Given the description of an element on the screen output the (x, y) to click on. 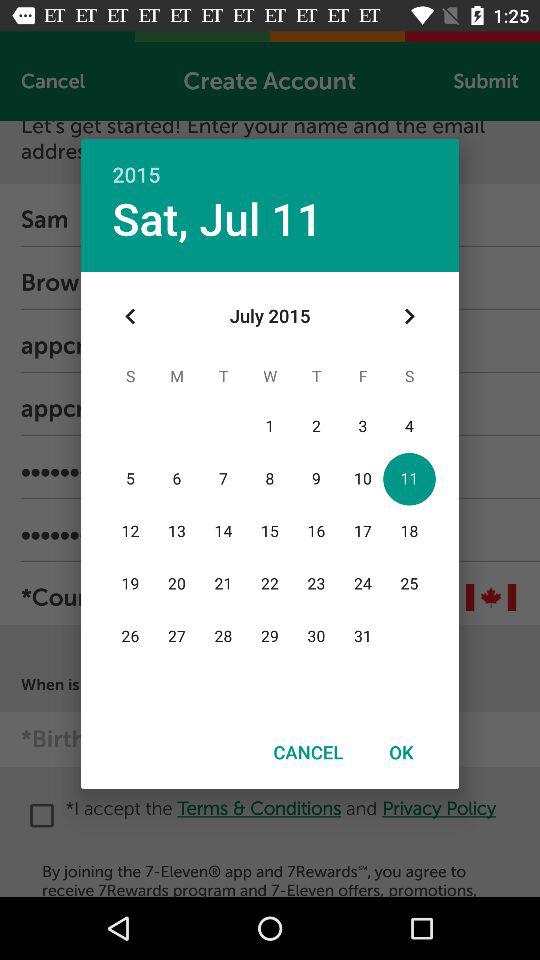
jump until the sat, jul 11 item (217, 218)
